Given the description of an element on the screen output the (x, y) to click on. 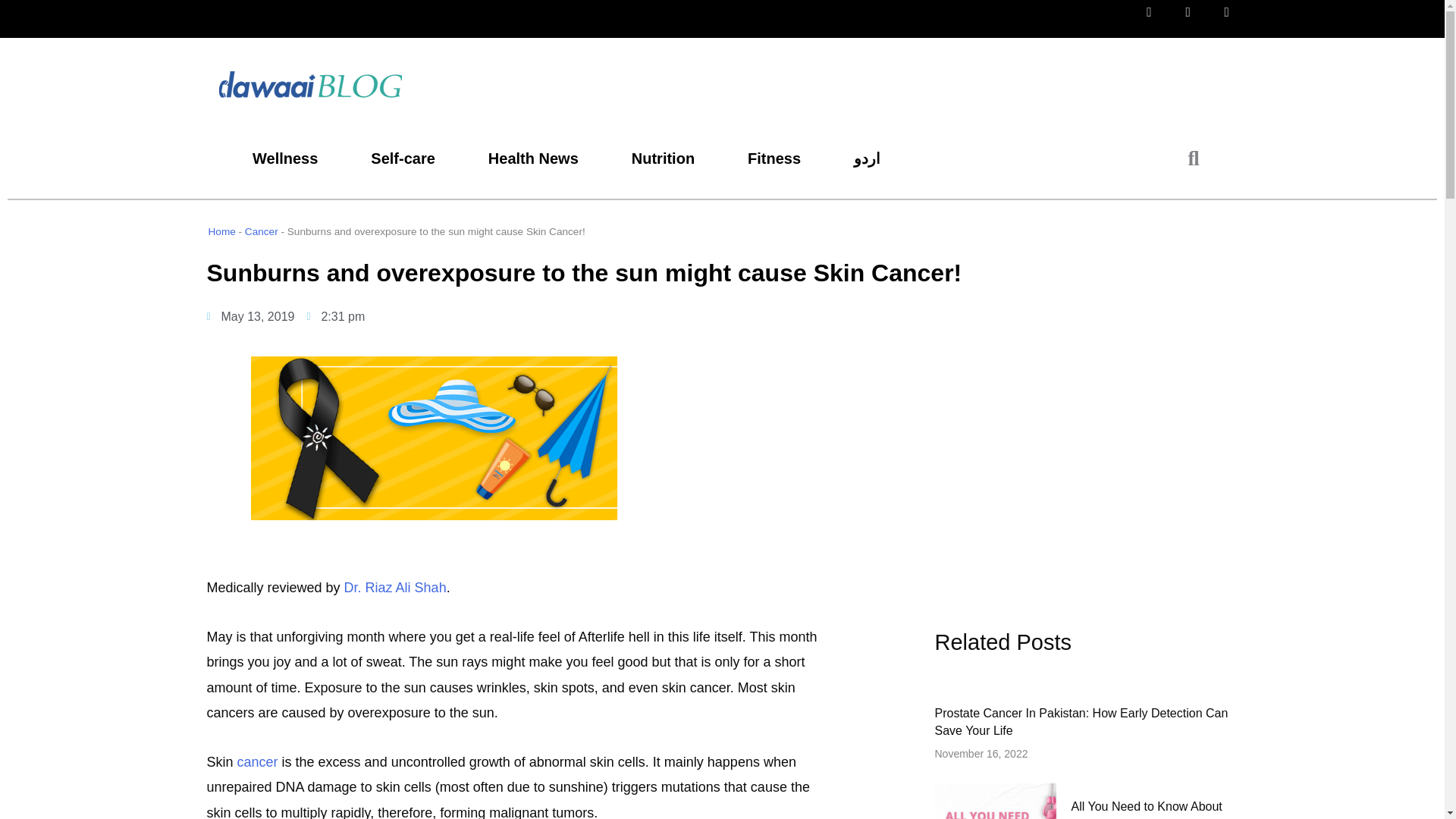
Health News (531, 158)
Nutrition (662, 158)
Wellness (283, 158)
Search (1184, 158)
All You Need to Know About Breast Cancer (1145, 809)
Home (221, 231)
Instagram (1238, 24)
Self-care (402, 158)
Cancer (261, 231)
